Given the description of an element on the screen output the (x, y) to click on. 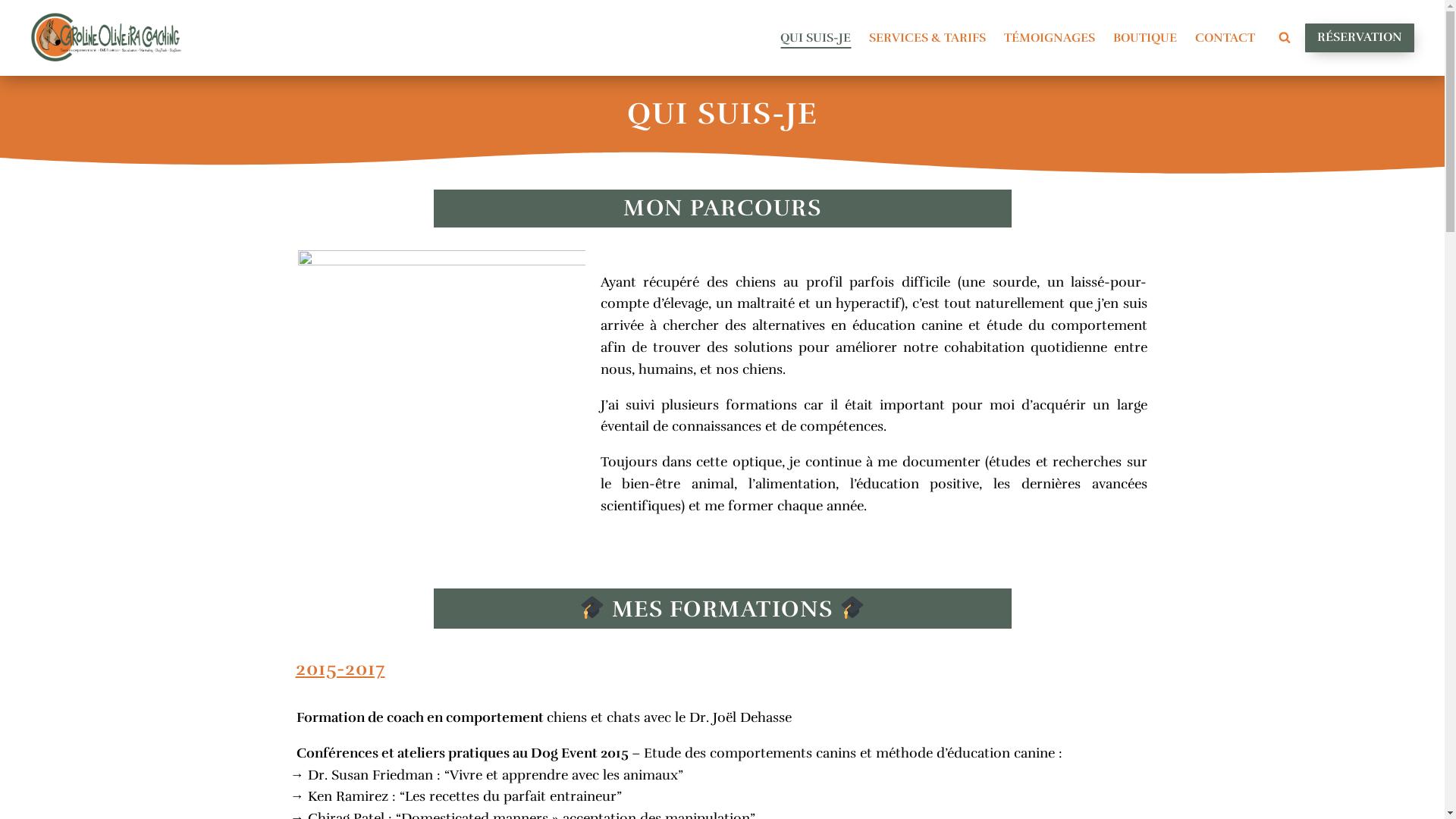
BOUTIQUE Element type: text (1145, 38)
QUI SUIS-JE Element type: text (815, 38)
CONTACT Element type: text (1225, 38)
SERVICES & TARIFS Element type: text (926, 38)
